Given the description of an element on the screen output the (x, y) to click on. 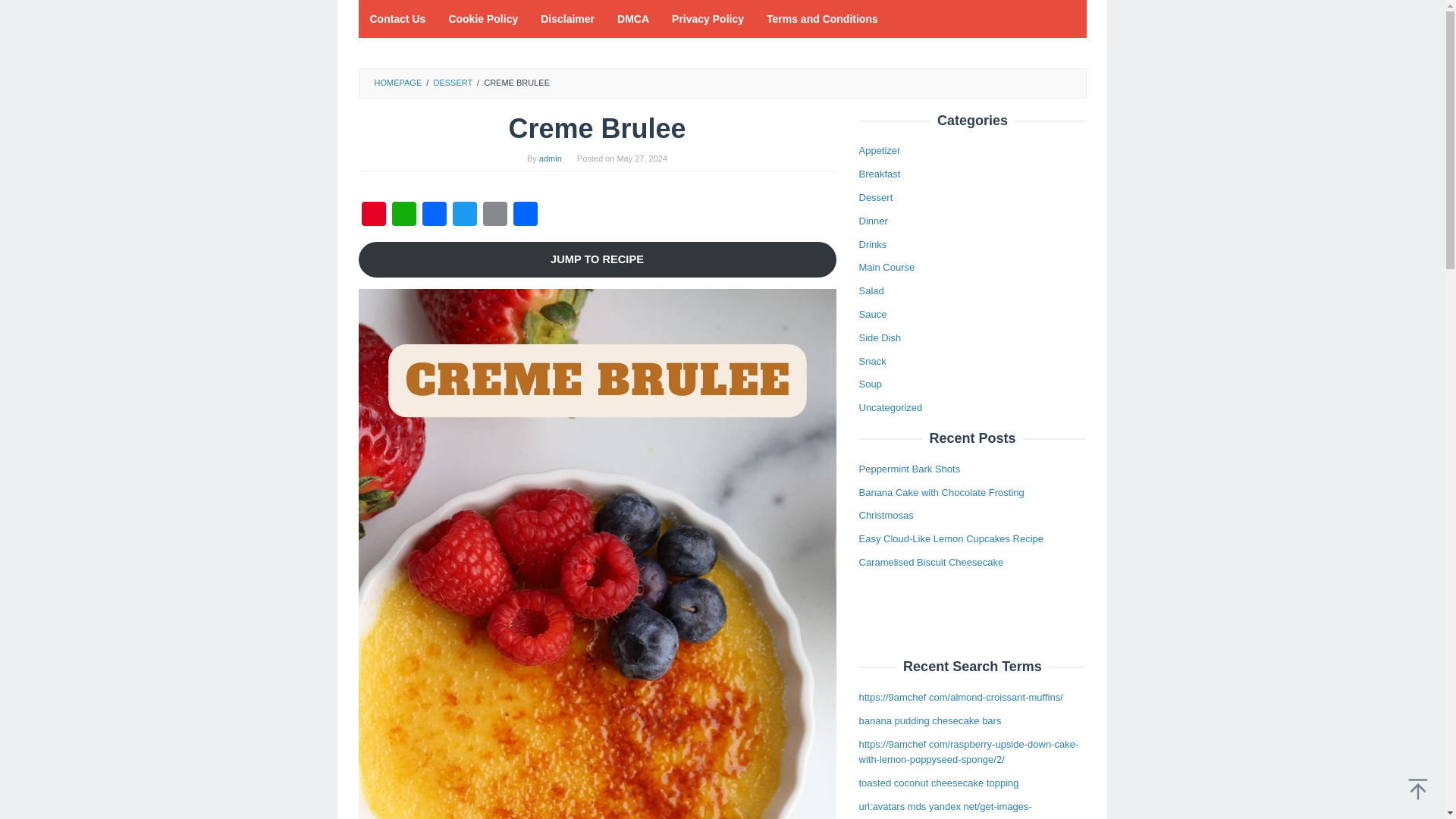
Cookie Policy (482, 18)
Terms and Conditions (822, 18)
JUMP TO RECIPE (596, 259)
Pinterest (373, 215)
Privacy Policy (708, 18)
DESSERT (451, 81)
Permalink to: admin (550, 157)
Disclaimer (567, 18)
Contact Us (397, 18)
admin (550, 157)
